Given the description of an element on the screen output the (x, y) to click on. 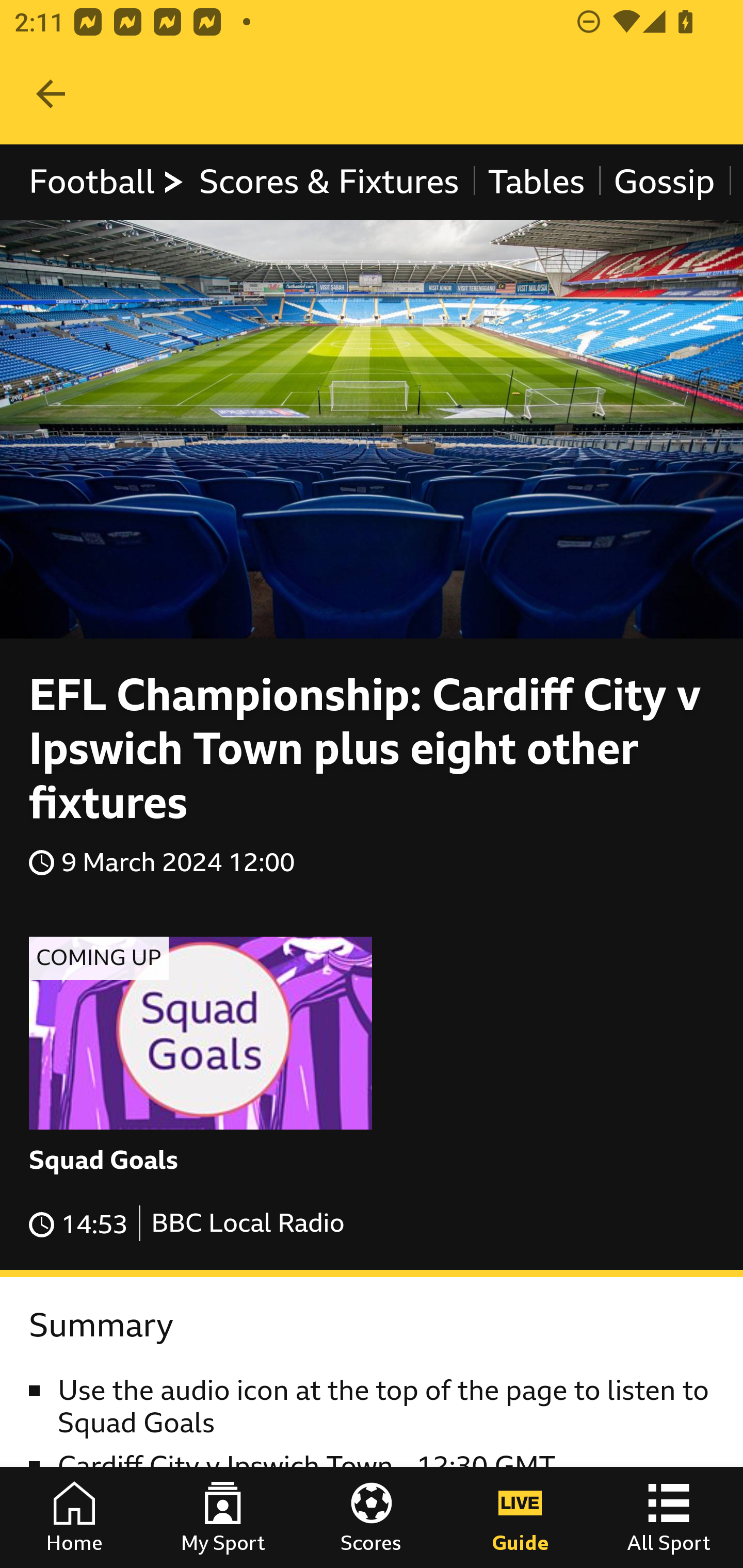
Navigate up (50, 93)
Football  (106, 181)
Scores & Fixtures (329, 181)
Tables (536, 181)
Gossip (664, 181)
Home (74, 1517)
My Sport (222, 1517)
Scores (371, 1517)
All Sport (668, 1517)
